Given the description of an element on the screen output the (x, y) to click on. 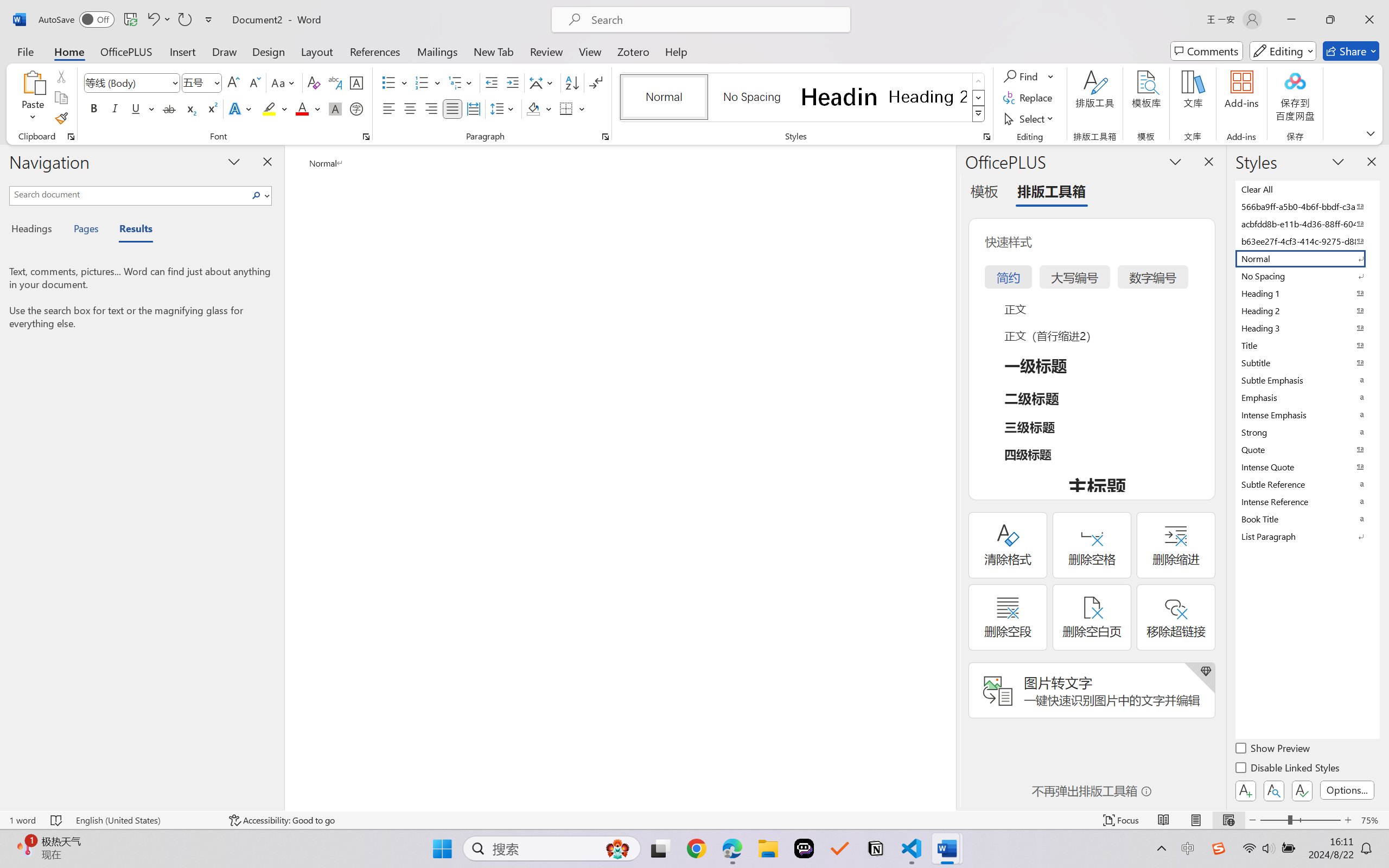
Word Count 1 word (21, 819)
Quick Access Toolbar (127, 19)
Normal (1306, 258)
New Tab (493, 51)
File Tab (24, 51)
566ba9ff-a5b0-4b6f-bbdf-c3ab41993fc2 (1306, 206)
Task Pane Options (1175, 161)
Clear Formatting (313, 82)
Customize Quick Access Toolbar (208, 19)
